Given the description of an element on the screen output the (x, y) to click on. 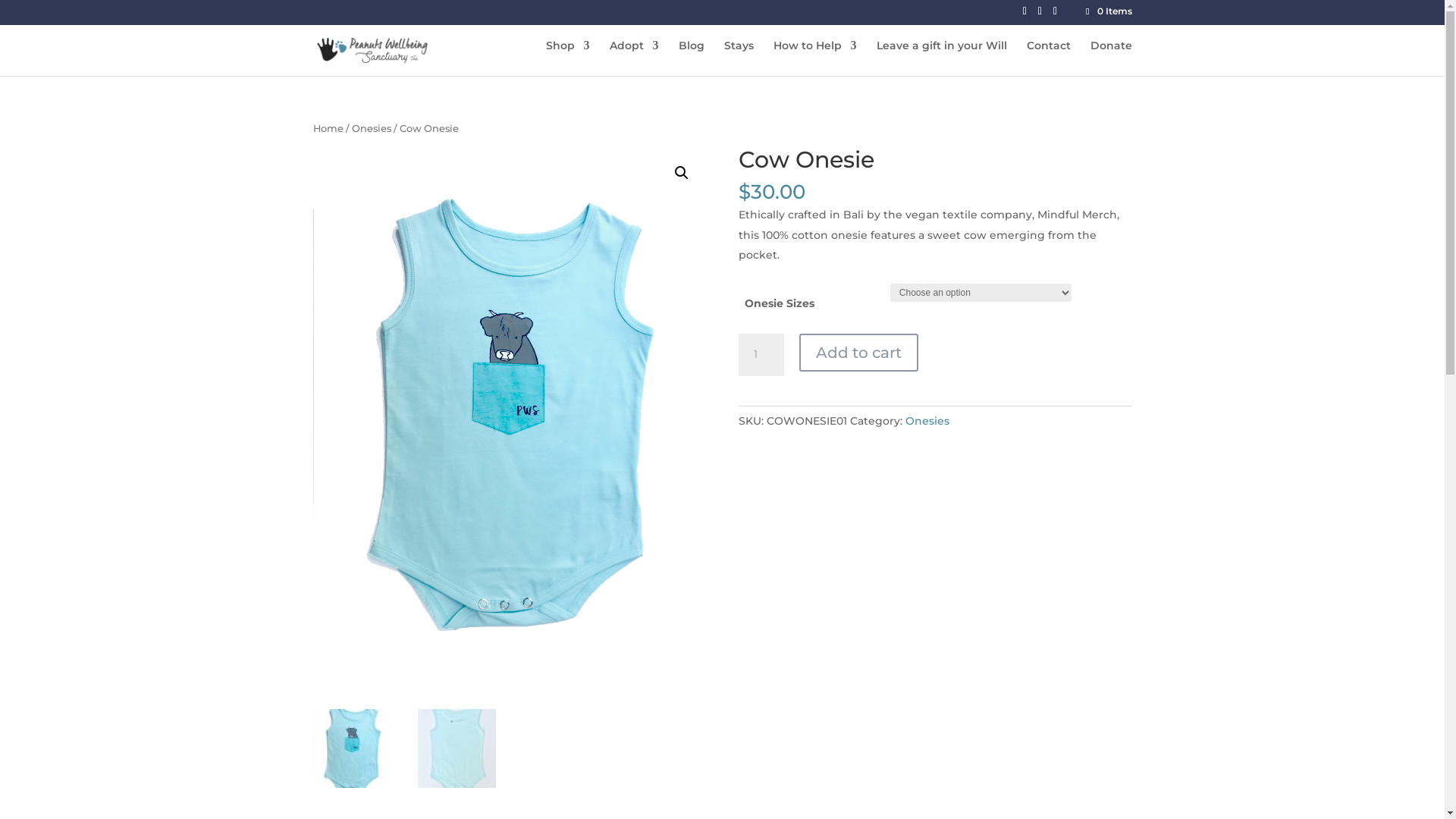
Leave a gift in your Will Element type: text (941, 57)
Onesies Element type: text (927, 420)
Add to cart Element type: text (858, 352)
Donate Element type: text (1111, 57)
Blog Element type: text (690, 57)
Contact Element type: text (1048, 57)
Adopt Element type: text (633, 57)
How to Help Element type: text (814, 57)
Onesies Element type: text (371, 128)
Stays Element type: text (738, 57)
acc7eb15-ca24-4758-b223-0f5a6e87f398 Element type: hover (508, 415)
0 Items Element type: text (1107, 10)
Shop Element type: text (567, 57)
Home Element type: text (327, 128)
